Given the description of an element on the screen output the (x, y) to click on. 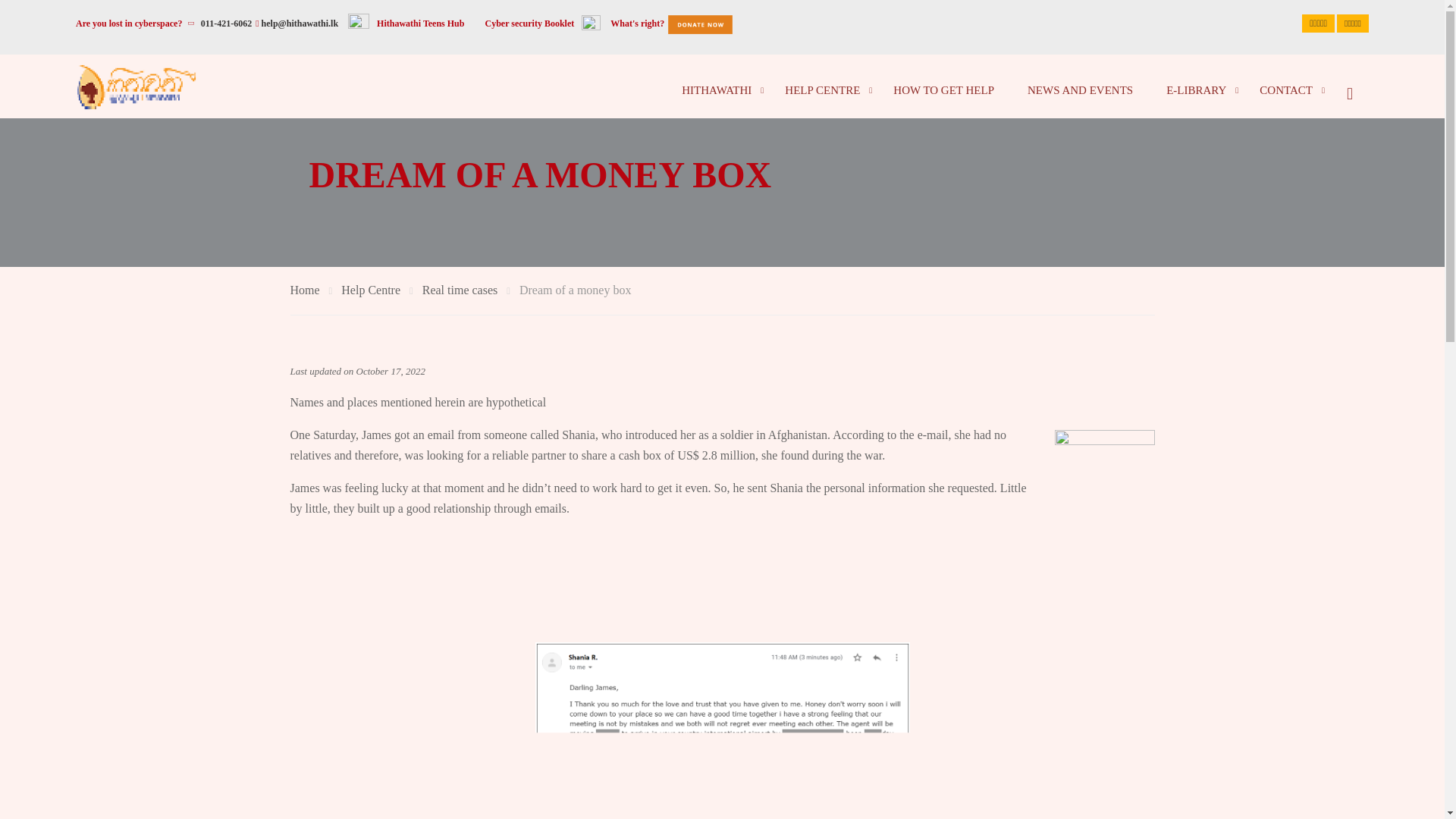
Hithawathi Teens Hub (420, 23)
Search (1349, 87)
Hithawathi - Your Confidante in Cyberspace (135, 86)
HITHAWATHI (716, 90)
What's right? (636, 23)
011-421-6062 (225, 23)
Cyber security Booklet (528, 23)
Search (1349, 87)
